Given the description of an element on the screen output the (x, y) to click on. 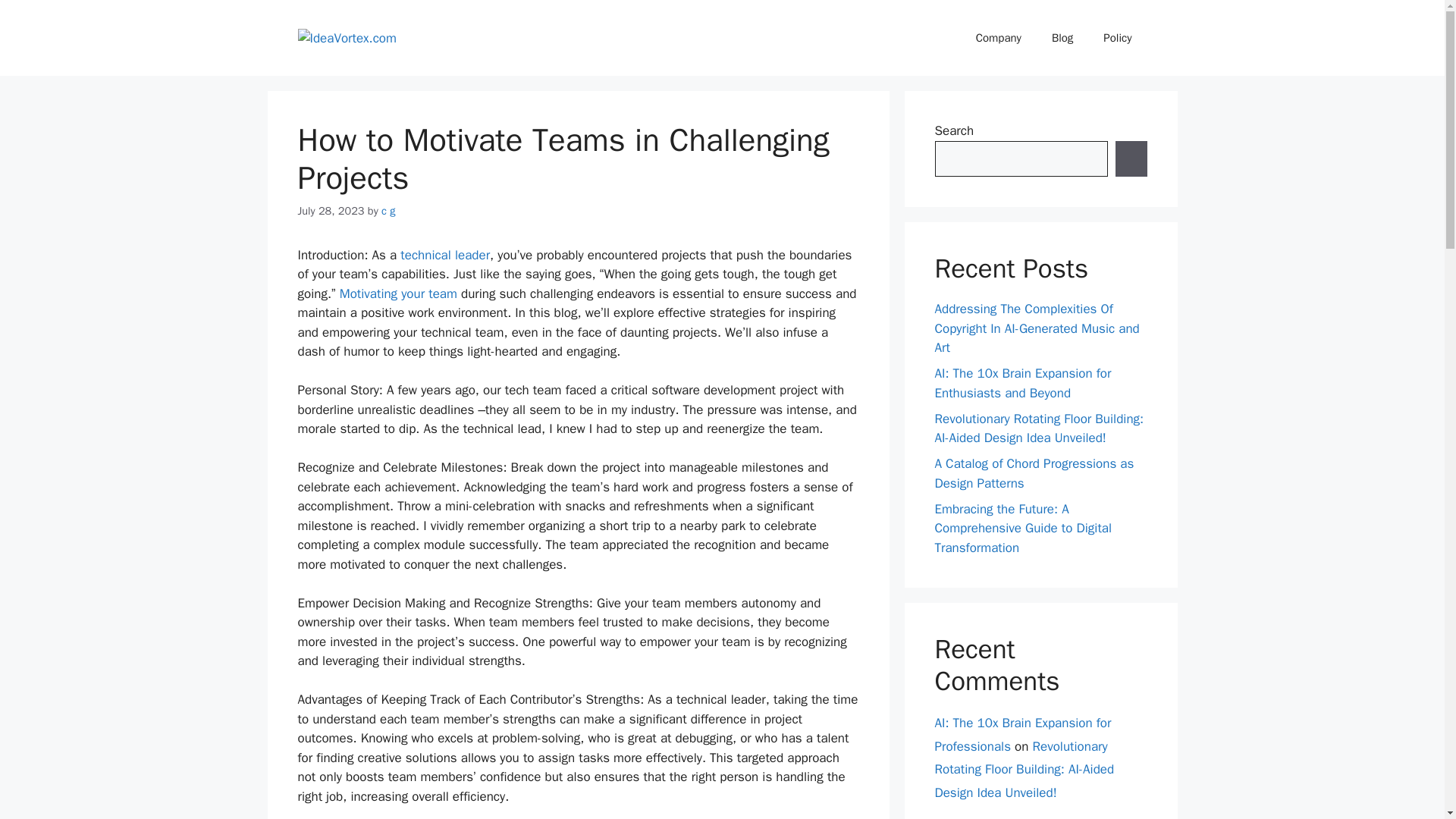
A Catalog of Chord Progressions as Design Patterns (1034, 473)
Company (998, 37)
technical leader (444, 254)
Policy (1117, 37)
Blog (1061, 37)
Project Manager (444, 254)
AI: The 10x Brain Expansion for Enthusiasts and Beyond (1022, 383)
View all posts by c g (387, 210)
